Given the description of an element on the screen output the (x, y) to click on. 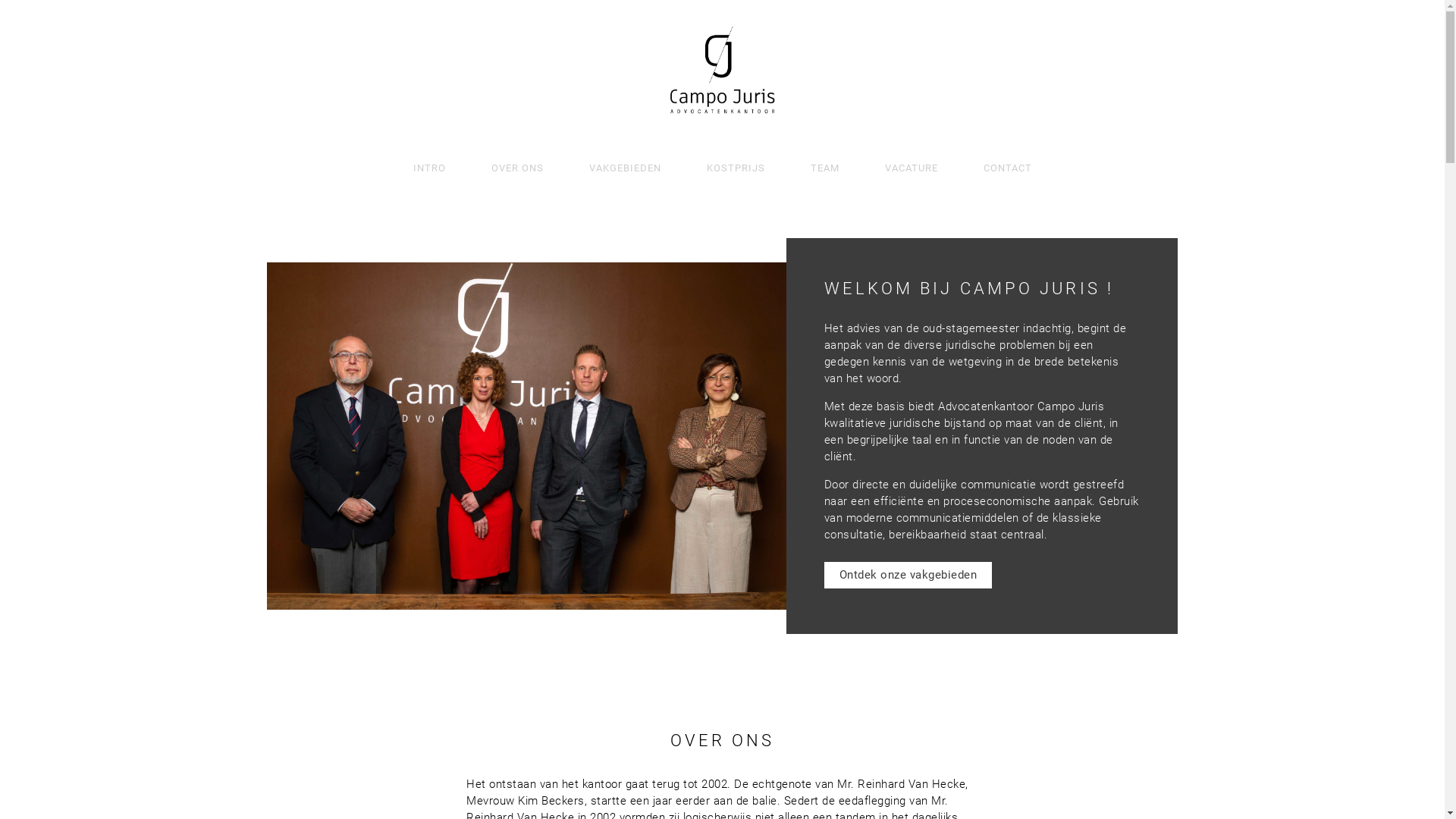
TEAM Element type: text (823, 168)
VACATURE Element type: text (910, 168)
KOSTPRIJS Element type: text (735, 168)
CONTACT Element type: text (1006, 168)
VAKGEBIEDEN Element type: text (624, 168)
INTRO Element type: text (428, 168)
OVER ONS Element type: text (517, 168)
Ontdek onze vakgebieden Element type: text (907, 574)
logo Element type: hover (722, 71)
